Given the description of an element on the screen output the (x, y) to click on. 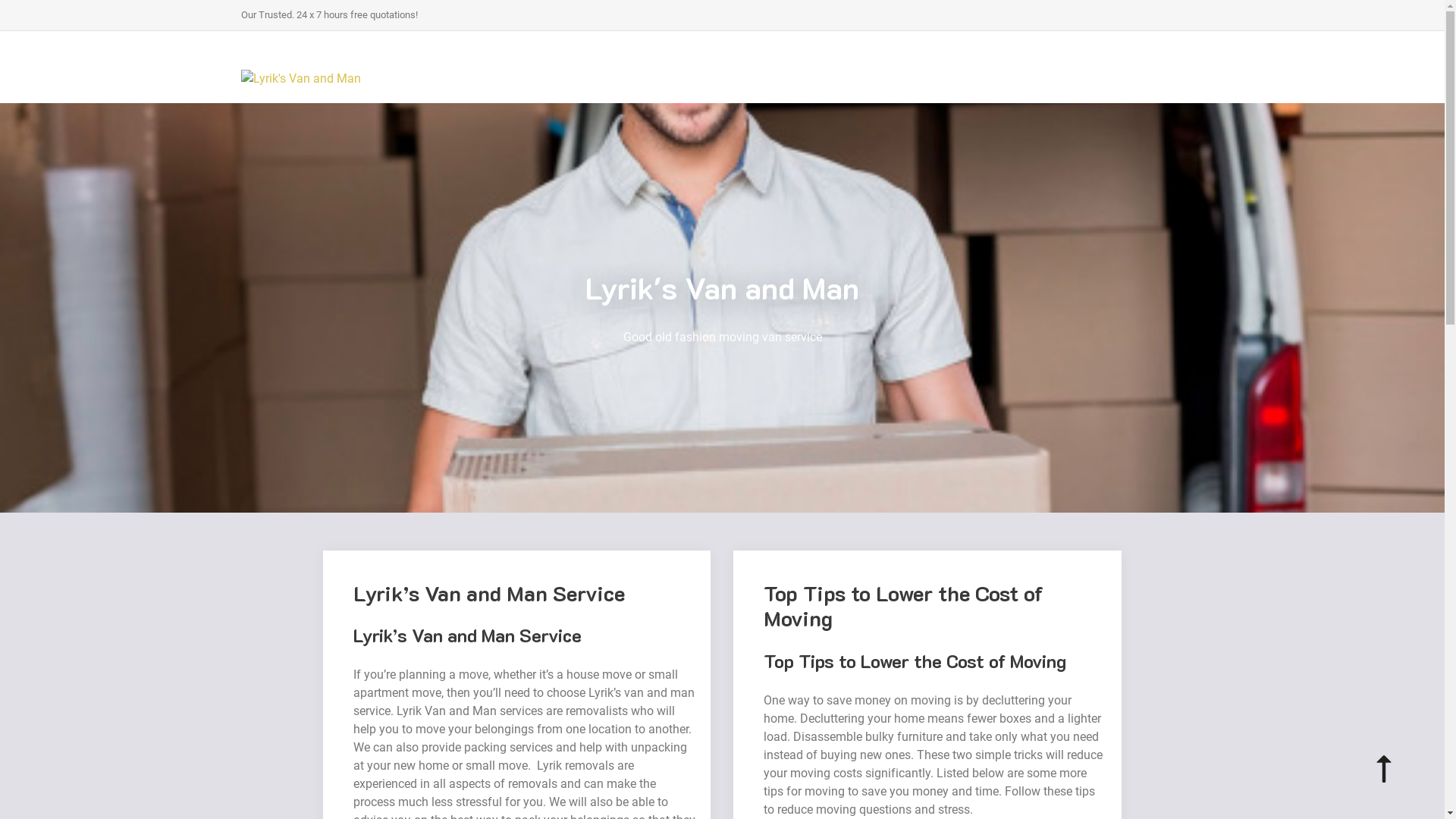
Top Tips to Lower the Cost of Moving Element type: text (903, 605)
Top Tips to Lower the Cost of Moving Element type: text (914, 660)
